Given the description of an element on the screen output the (x, y) to click on. 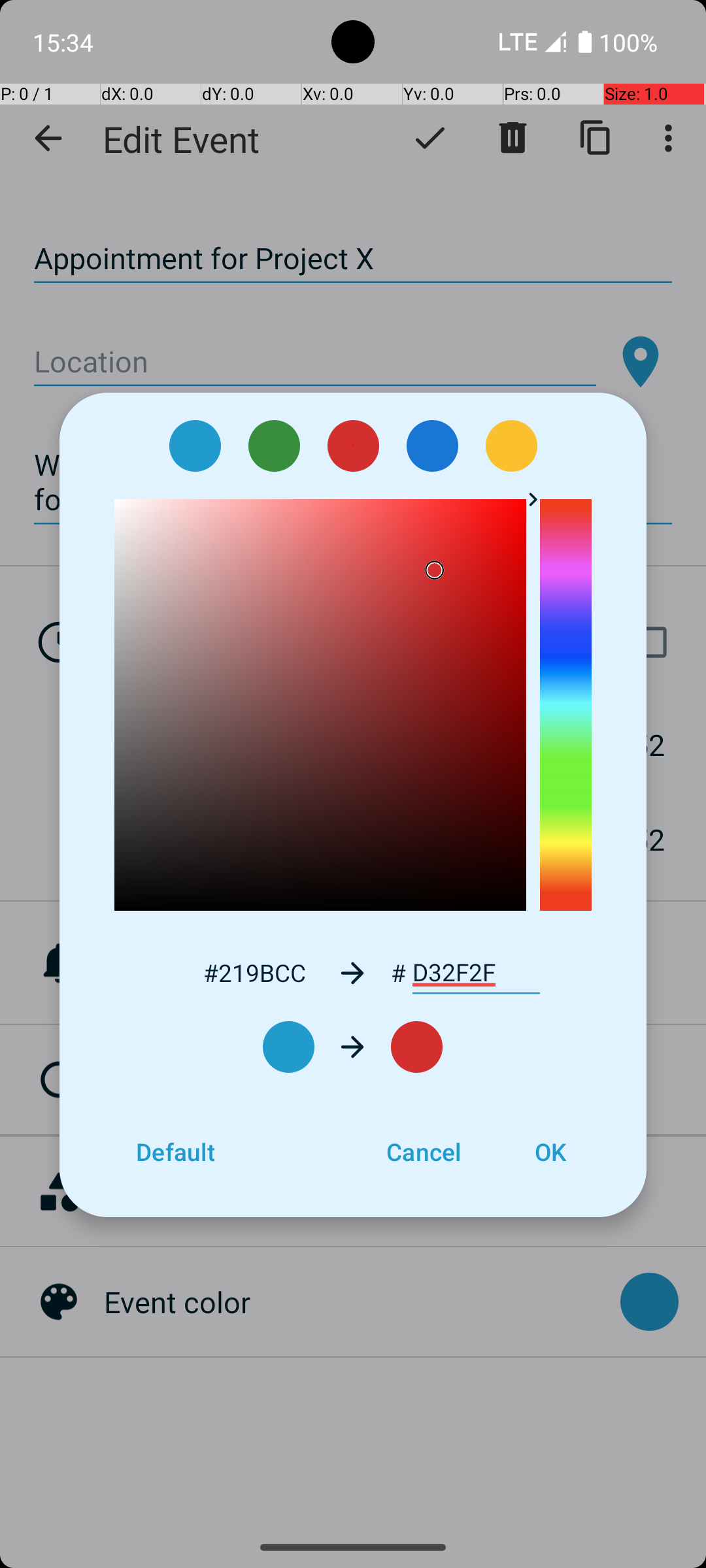
D32F2F Element type: android.widget.EditText (475, 972)
